Given the description of an element on the screen output the (x, y) to click on. 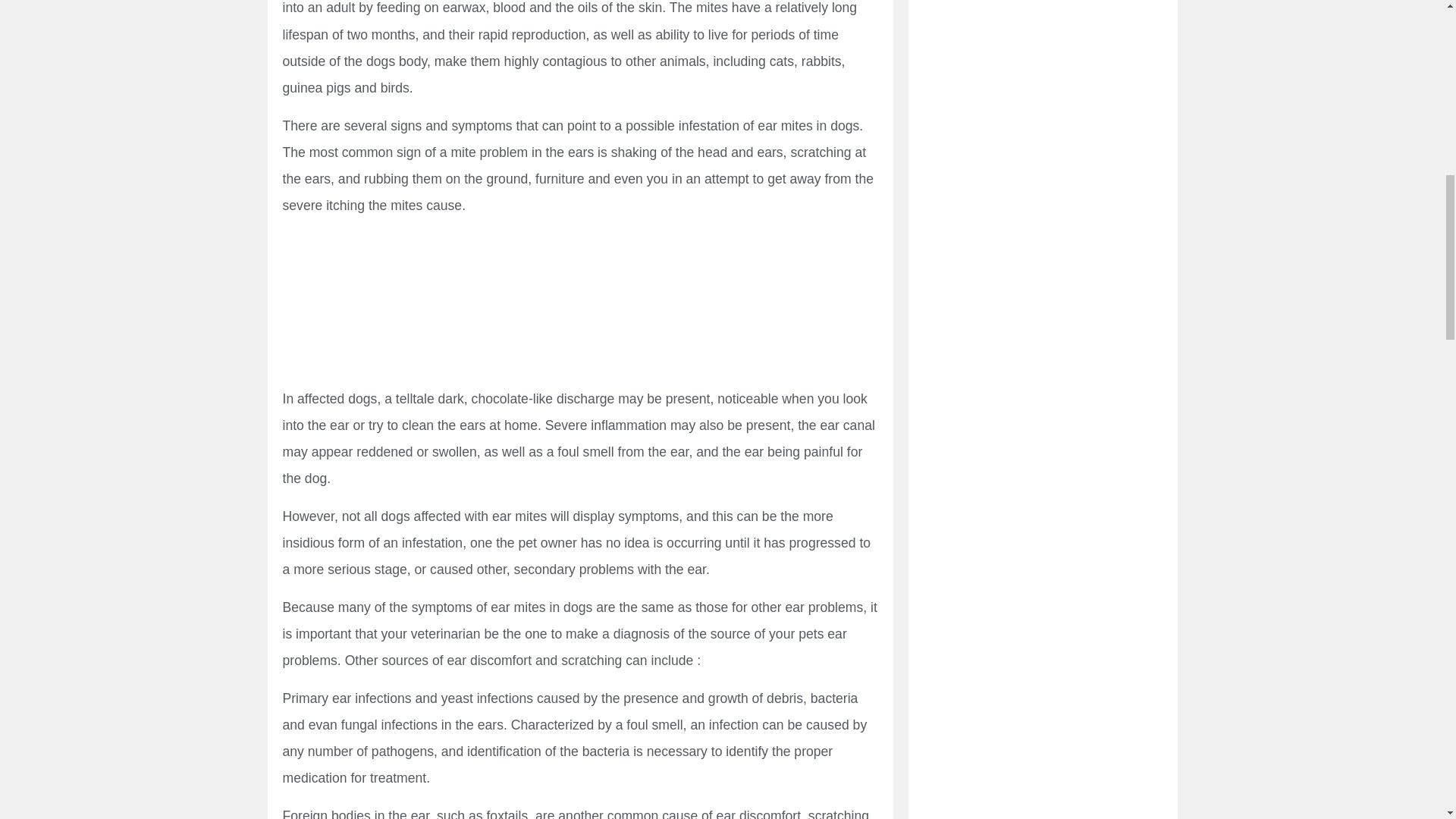
Advertisement (1042, 9)
Advertisement (579, 305)
